Given the description of an element on the screen output the (x, y) to click on. 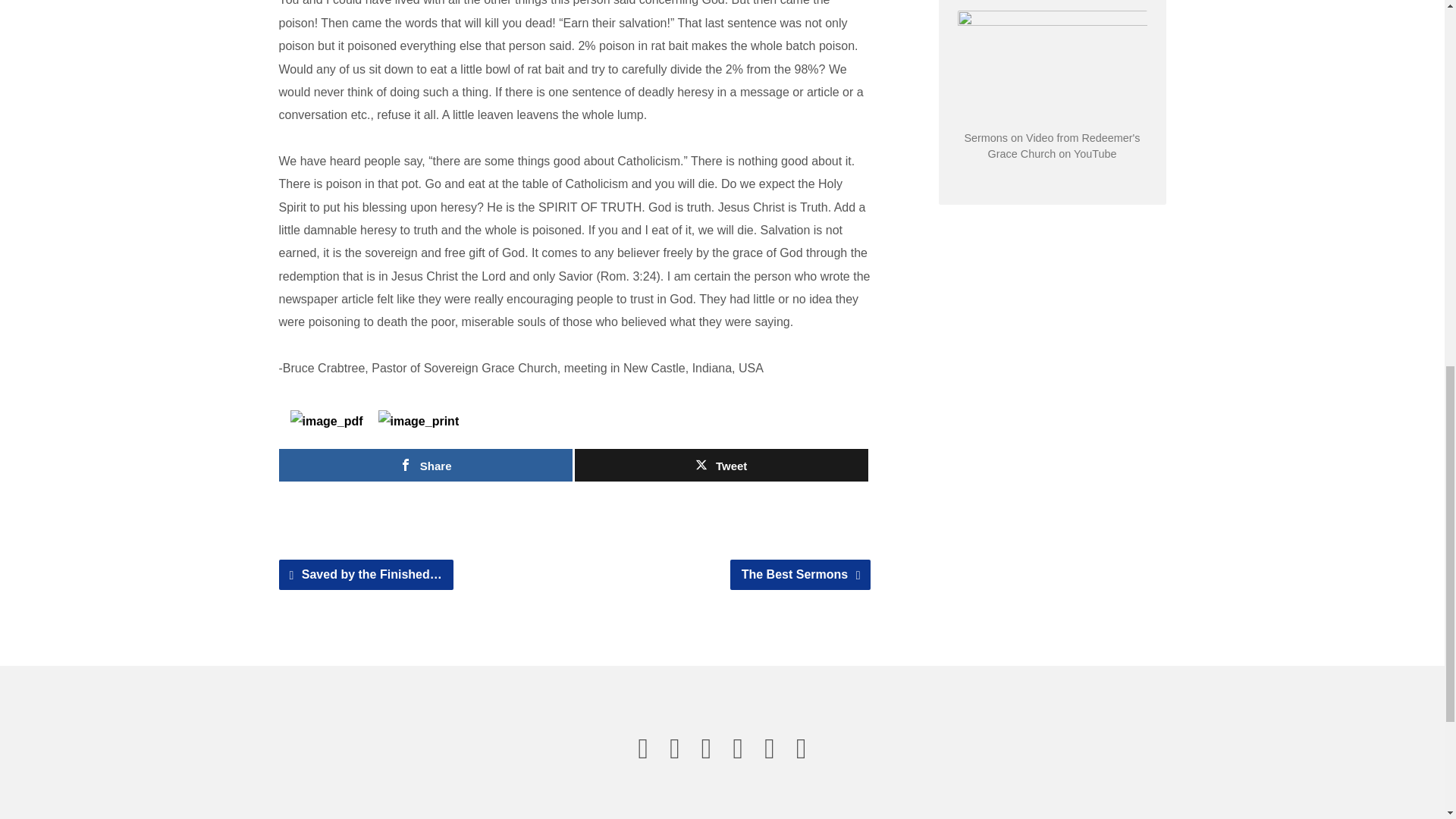
Tweet (721, 464)
View PDF (326, 421)
Print Content (418, 421)
Share (425, 464)
The Best Sermons (800, 574)
